Given the description of an element on the screen output the (x, y) to click on. 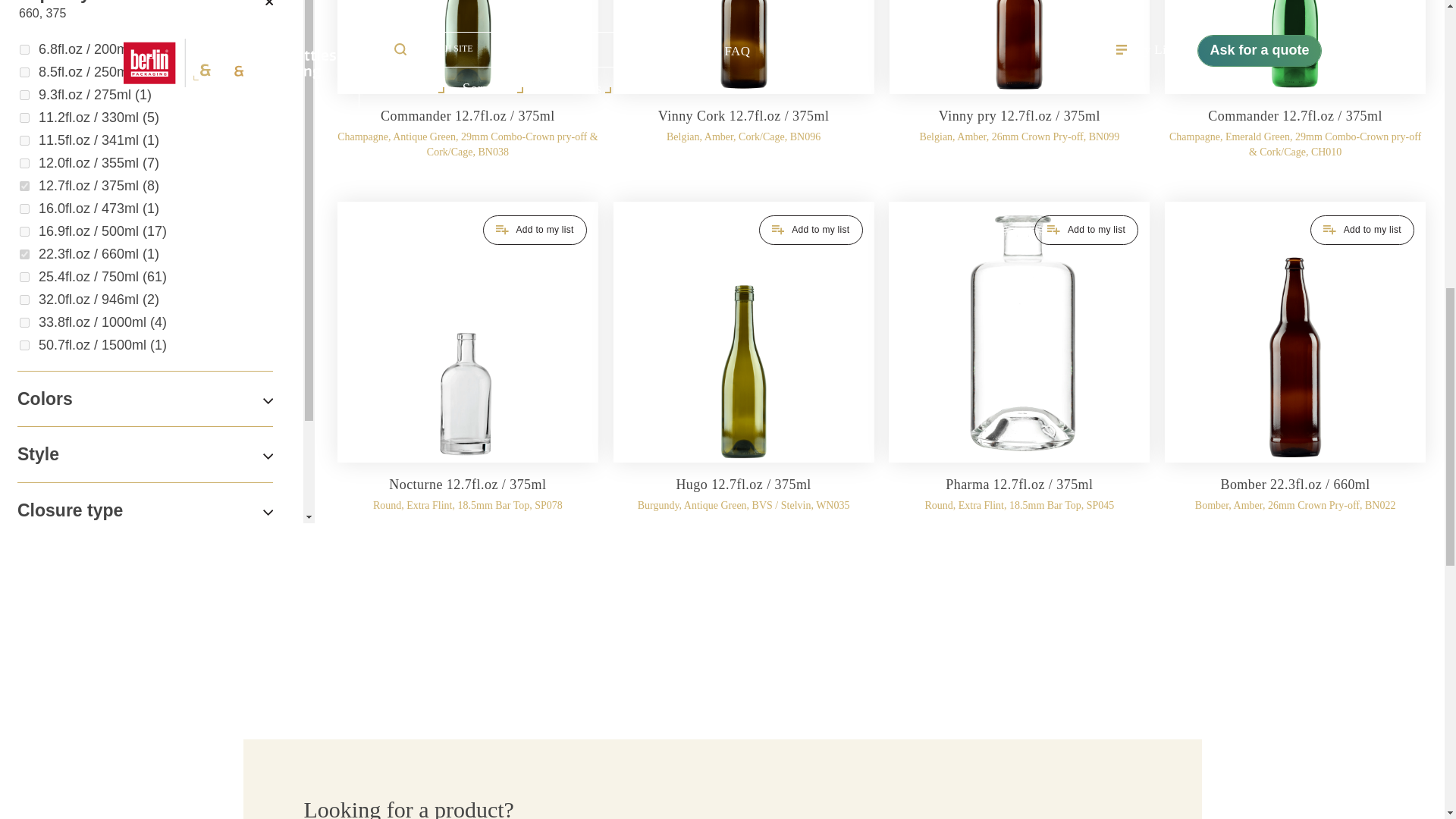
275 (24, 94)
946 (24, 299)
1000 (24, 322)
1500 (24, 345)
341 (24, 140)
200 (24, 49)
660 (24, 254)
473 (24, 208)
750 (24, 276)
355 (24, 163)
